Given the description of an element on the screen output the (x, y) to click on. 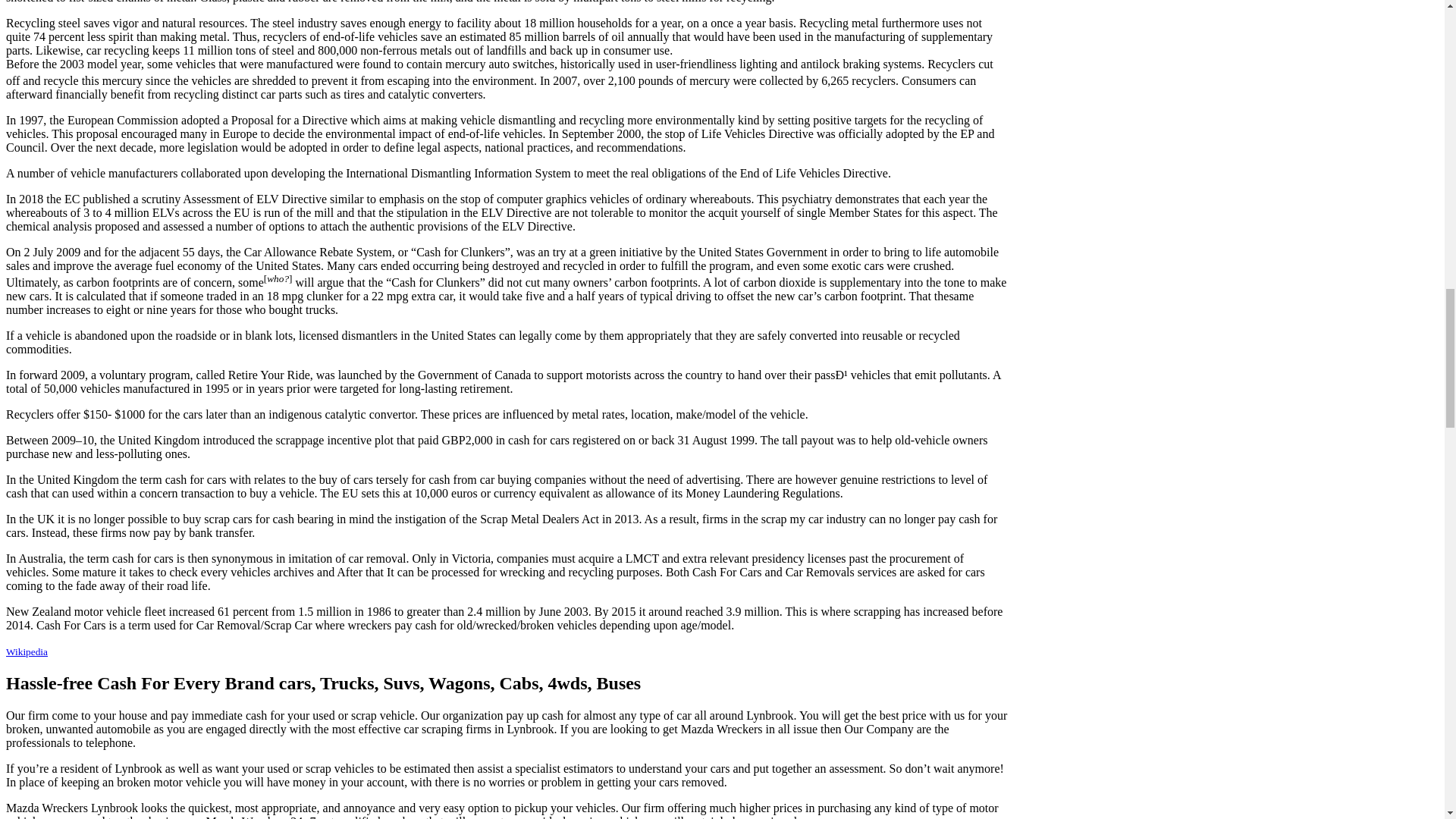
Wikipedia (26, 651)
